Given the description of an element on the screen output the (x, y) to click on. 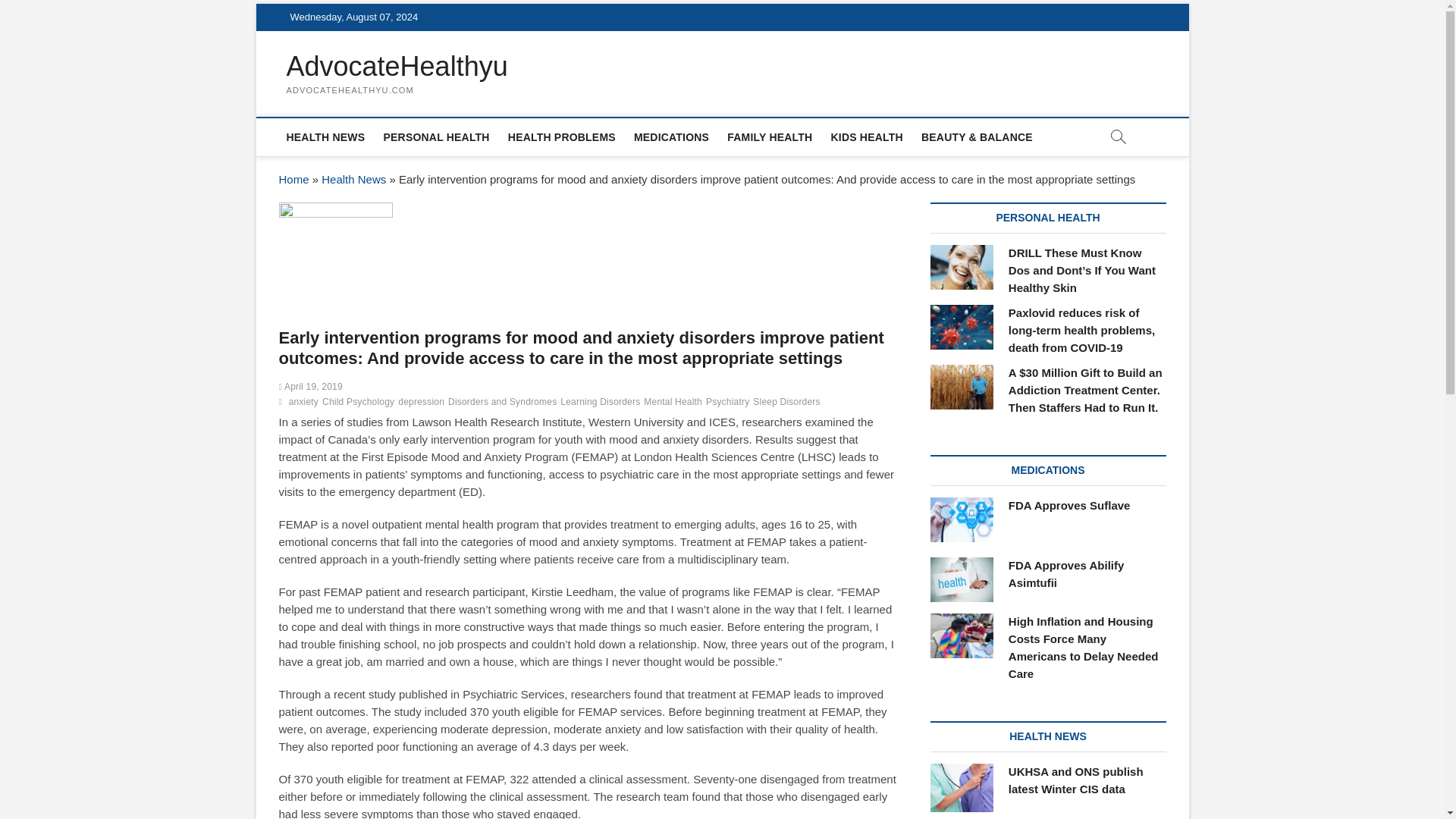
FDA Approves Suflave (1070, 504)
Sleep Disorders (788, 403)
AdvocateHealthyu (397, 66)
HEALTH PROBLEMS (561, 136)
Home (293, 178)
FDA Approves Suflave (1070, 504)
HEALTH NEWS (325, 136)
depression (422, 403)
April 19, 2019 (310, 386)
PERSONAL HEALTH (436, 136)
Child Psychology (359, 403)
FAMILY HEALTH (769, 136)
